Given the description of an element on the screen output the (x, y) to click on. 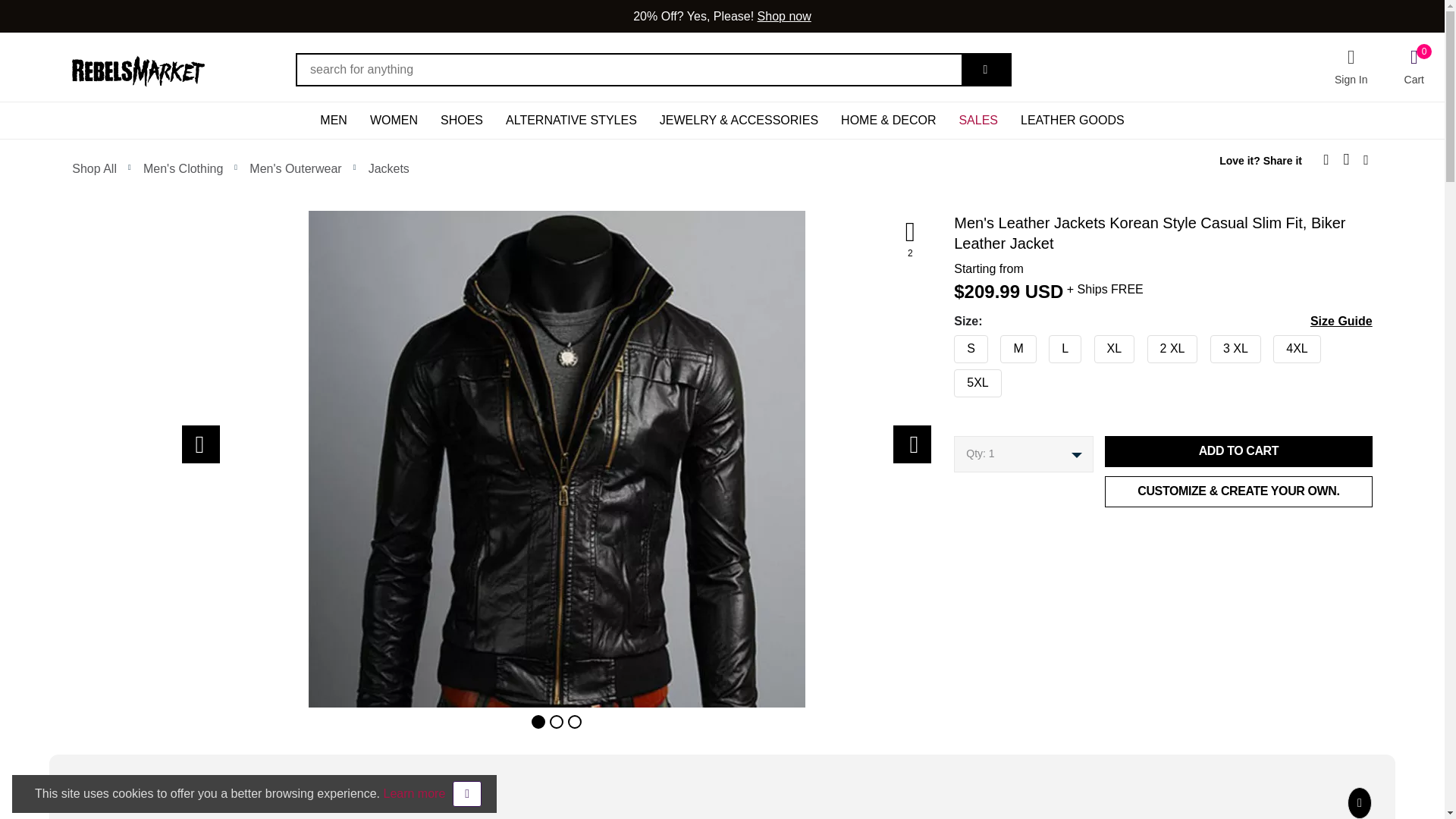
5XL (949, 379)
Sign In (1351, 66)
XL (949, 345)
S (949, 345)
M (949, 345)
USD (1044, 291)
2 XL (949, 345)
209.99 (991, 291)
3 XL (949, 345)
4XL (949, 345)
L (949, 345)
WOMEN (393, 119)
MEN (333, 119)
